Given the description of an element on the screen output the (x, y) to click on. 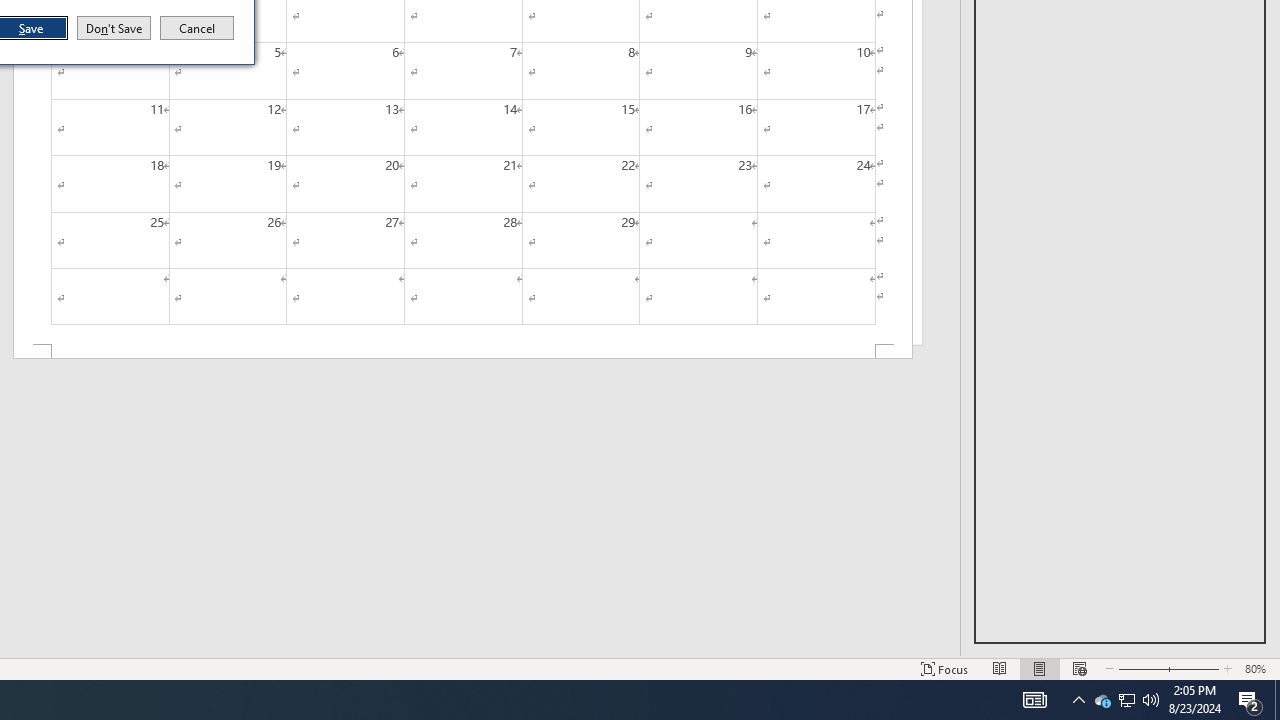
Footer -Section 2- (462, 351)
Action Center, 2 new notifications (1250, 699)
Don't Save (113, 27)
Show desktop (1102, 699)
Zoom In (1277, 699)
